Given the description of an element on the screen output the (x, y) to click on. 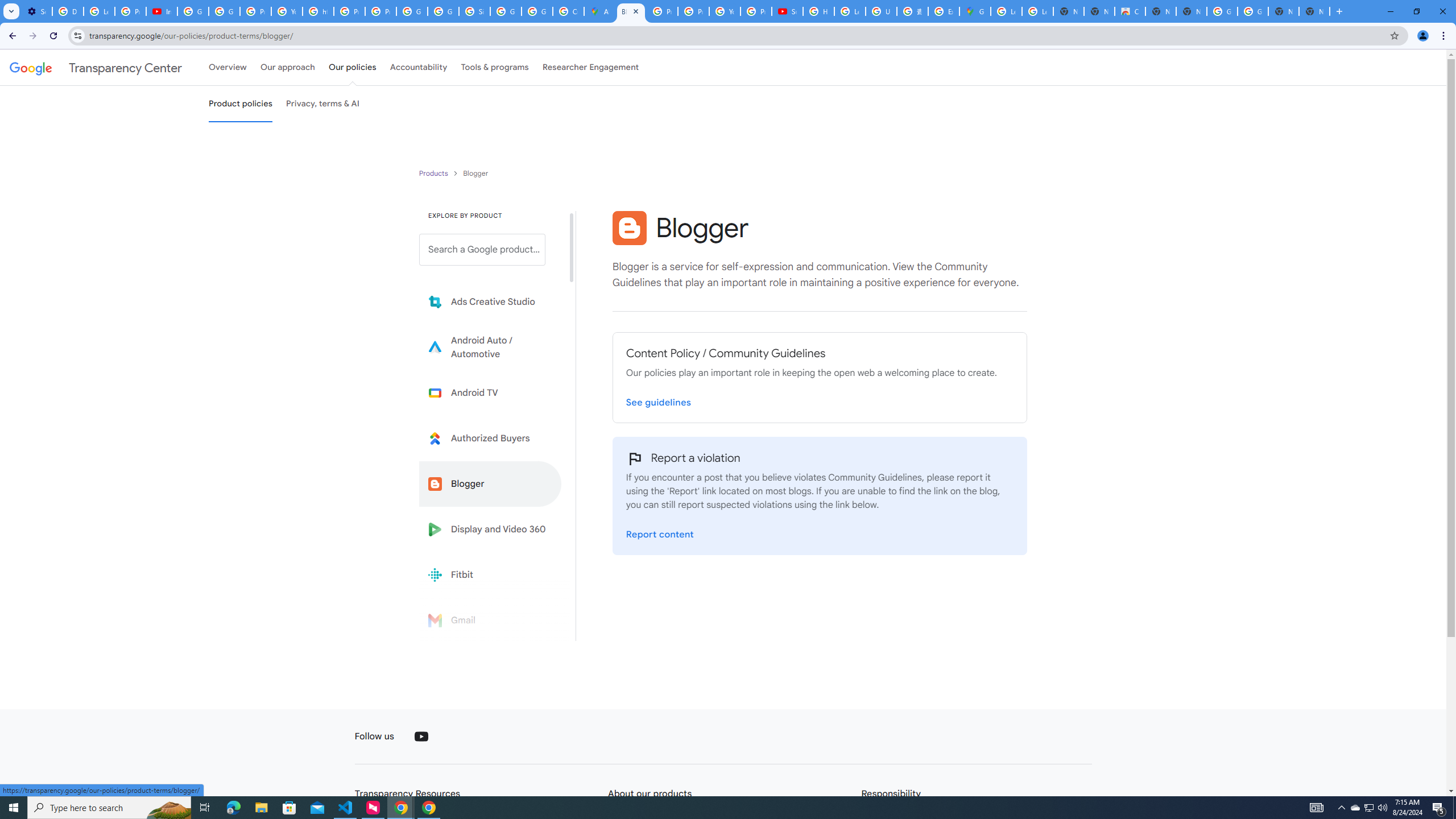
Blogger (490, 483)
Privacy Help Center - Policies Help (349, 11)
Learn more about Ads Creative Studio (490, 302)
Learn more about Android Auto (490, 347)
Search a Google product from below list. (481, 249)
Display and Video 360 (490, 529)
Report a violation on the Blogger Report page (659, 534)
